Given the description of an element on the screen output the (x, y) to click on. 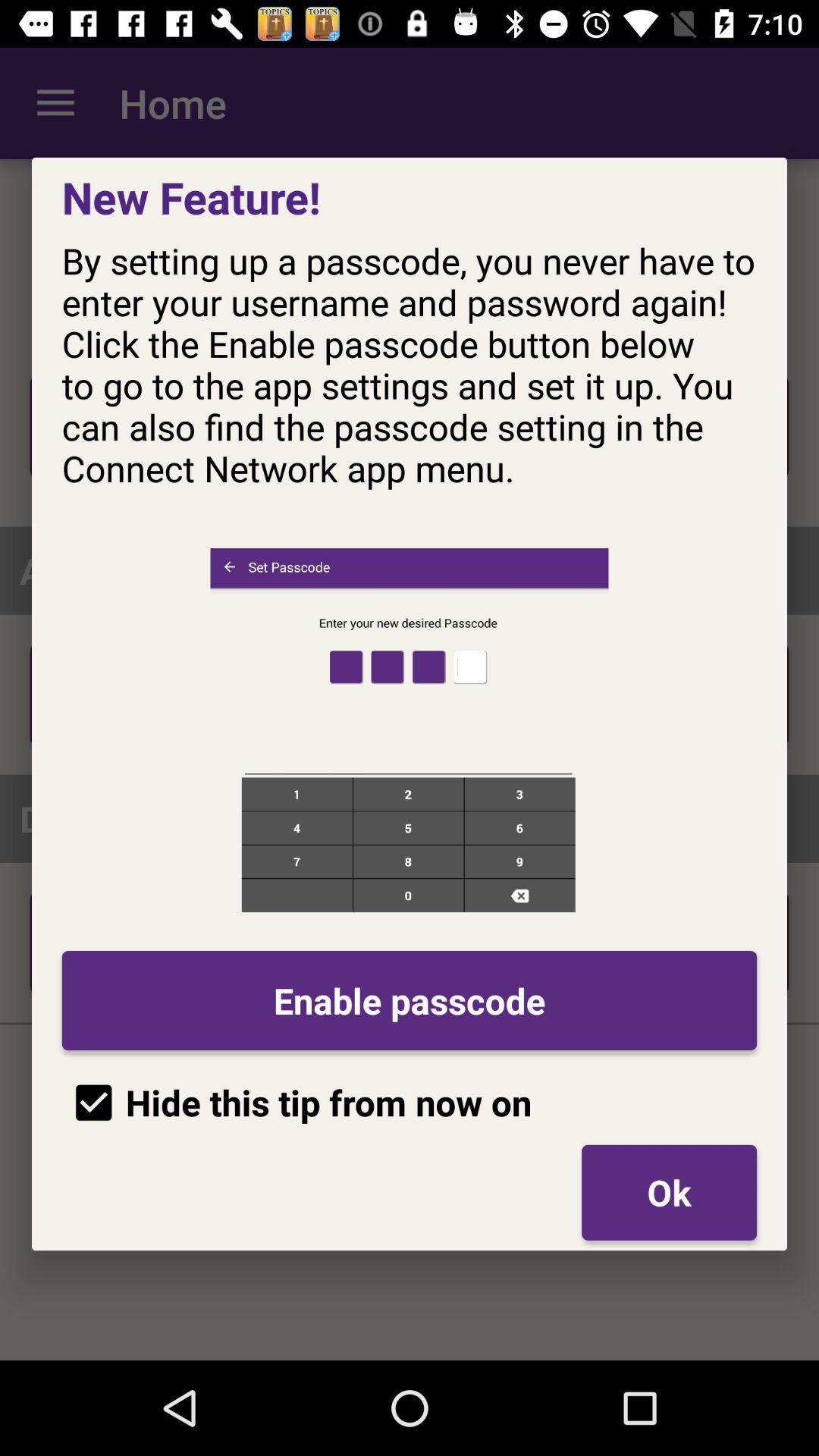
open item to the right of the hide this tip (669, 1192)
